Given the description of an element on the screen output the (x, y) to click on. 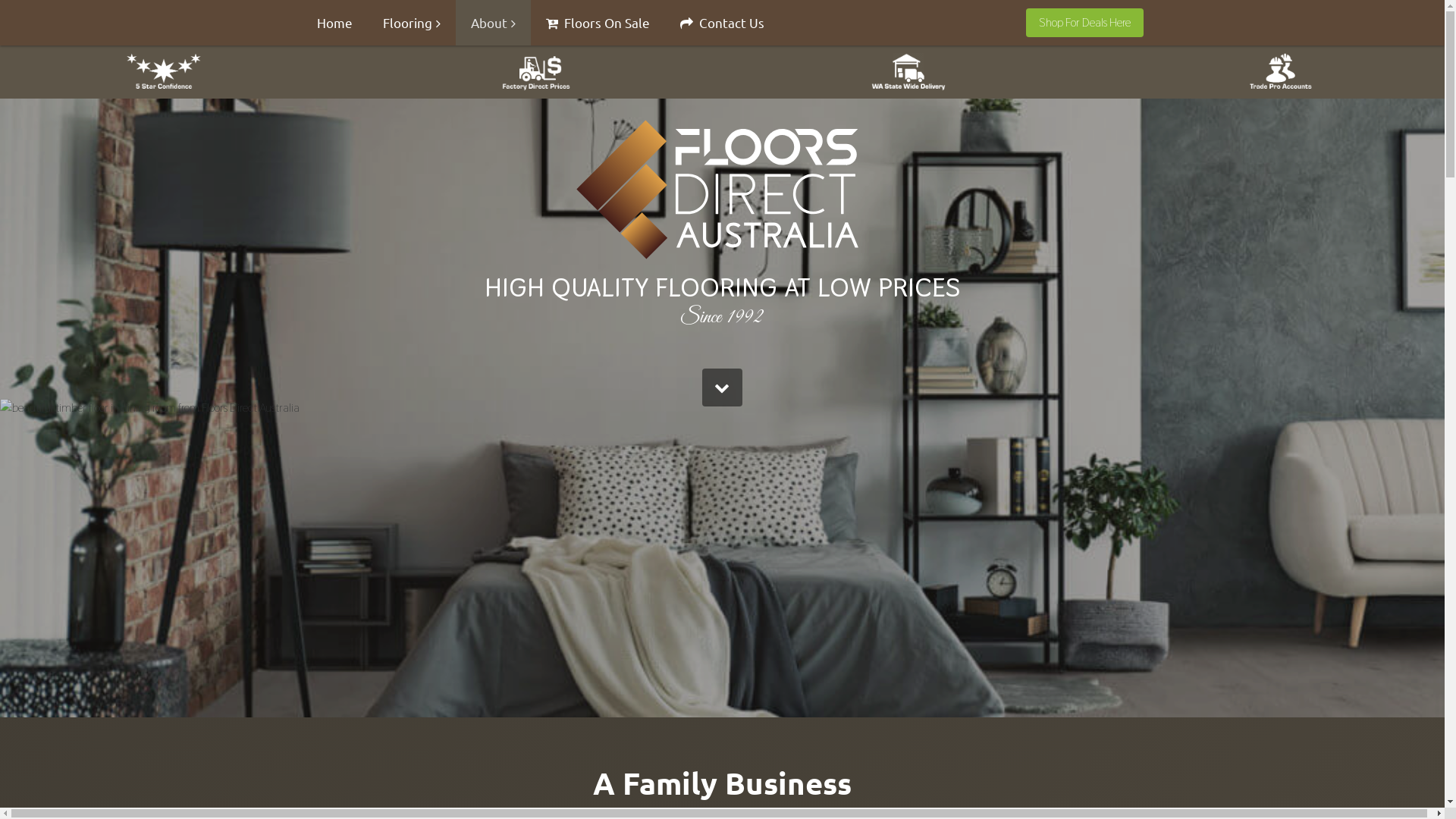
Home Element type: text (334, 22)
Floors On Sale Element type: text (597, 22)
Flooring Element type: text (411, 22)
Contact Us Element type: text (721, 22)
Delivery Element type: hover (908, 72)
About Element type: text (492, 22)
Shop For Deals Here Element type: text (1083, 22)
Floors On Sale Element type: hover (535, 72)
